Given the description of an element on the screen output the (x, y) to click on. 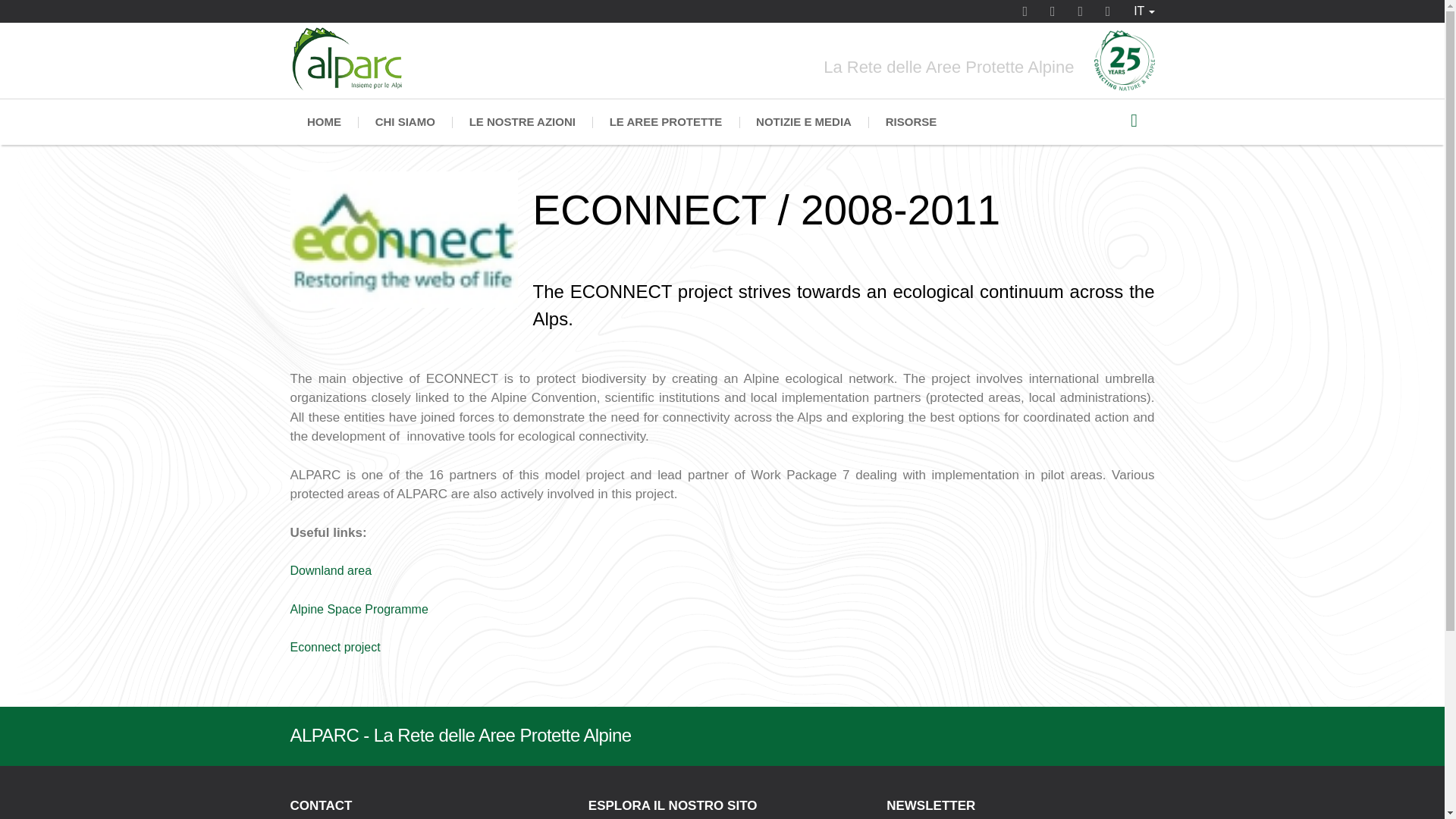
IT (1144, 10)
NOTIZIE E MEDIA (804, 121)
LE AREE PROTETTE (665, 121)
LE NOSTRE AZIONI (521, 121)
HOME (323, 121)
CHI SIAMO (404, 121)
